Given the description of an element on the screen output the (x, y) to click on. 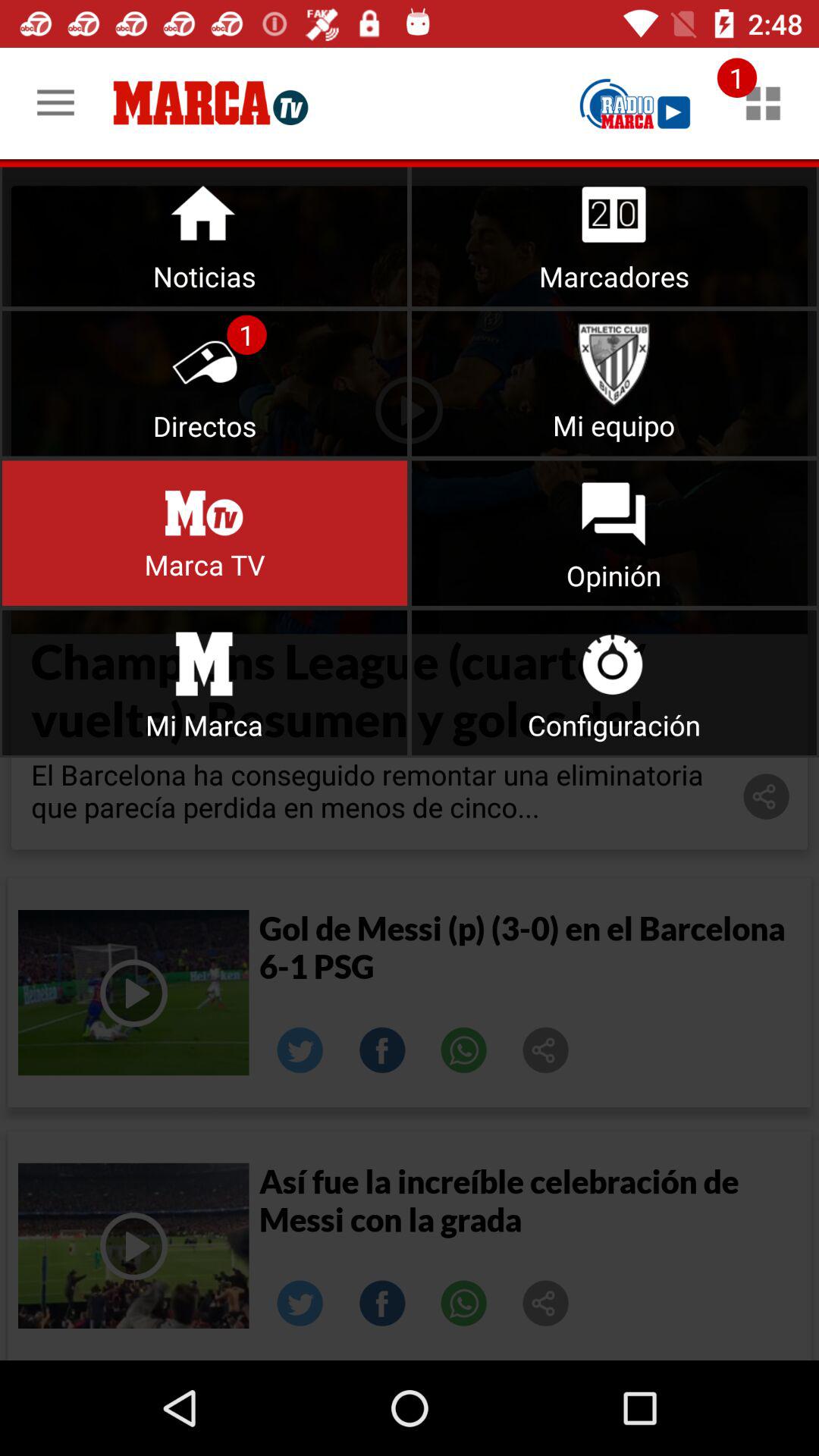
share the video (545, 1303)
